Given the description of an element on the screen output the (x, y) to click on. 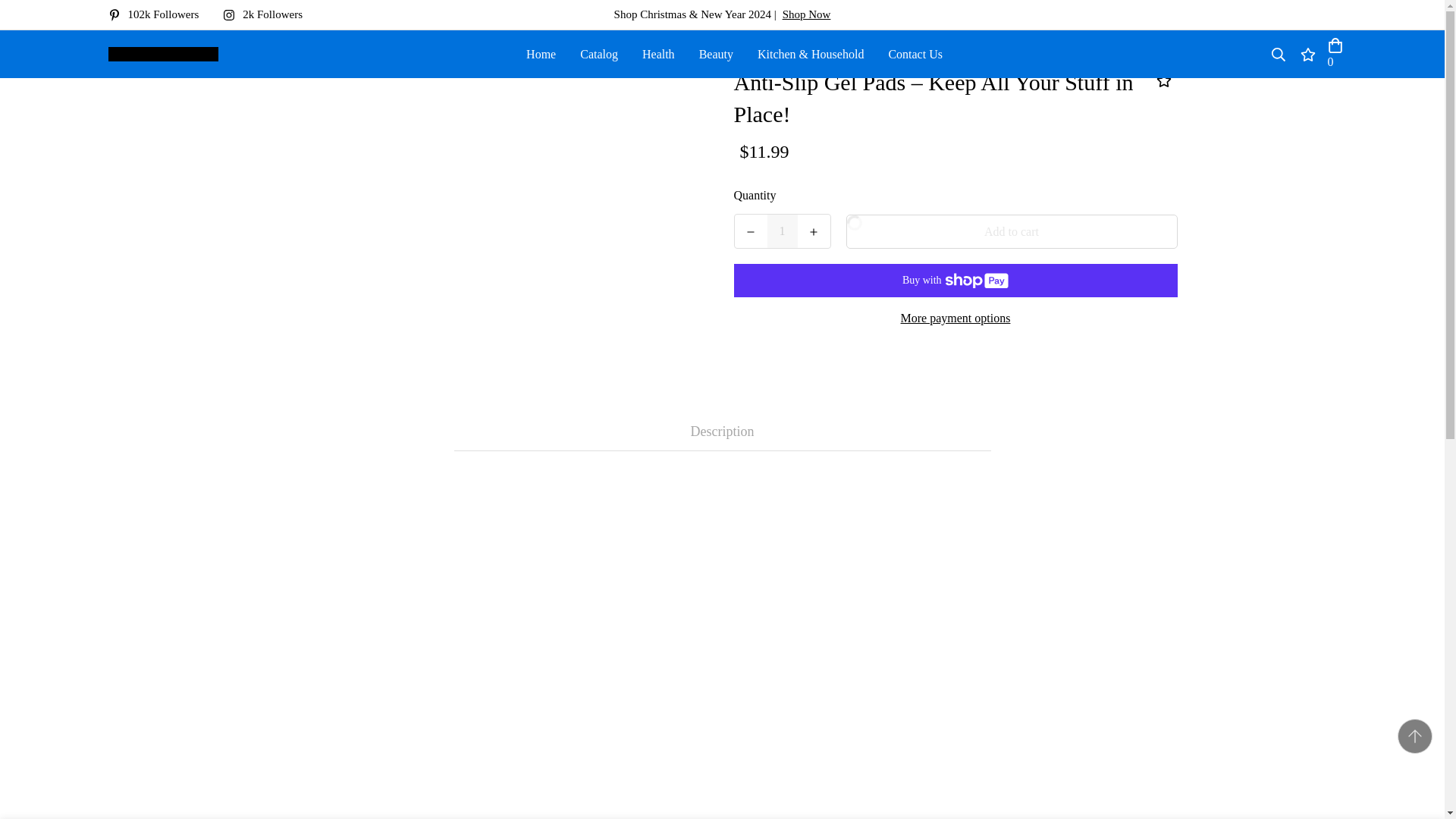
1 (782, 231)
Catalog (598, 53)
102k Followers (158, 14)
2k Followers (268, 14)
Shop Now (807, 14)
Health (658, 53)
Beauty (716, 53)
Contact Us (915, 53)
Home (540, 53)
